Given the description of an element on the screen output the (x, y) to click on. 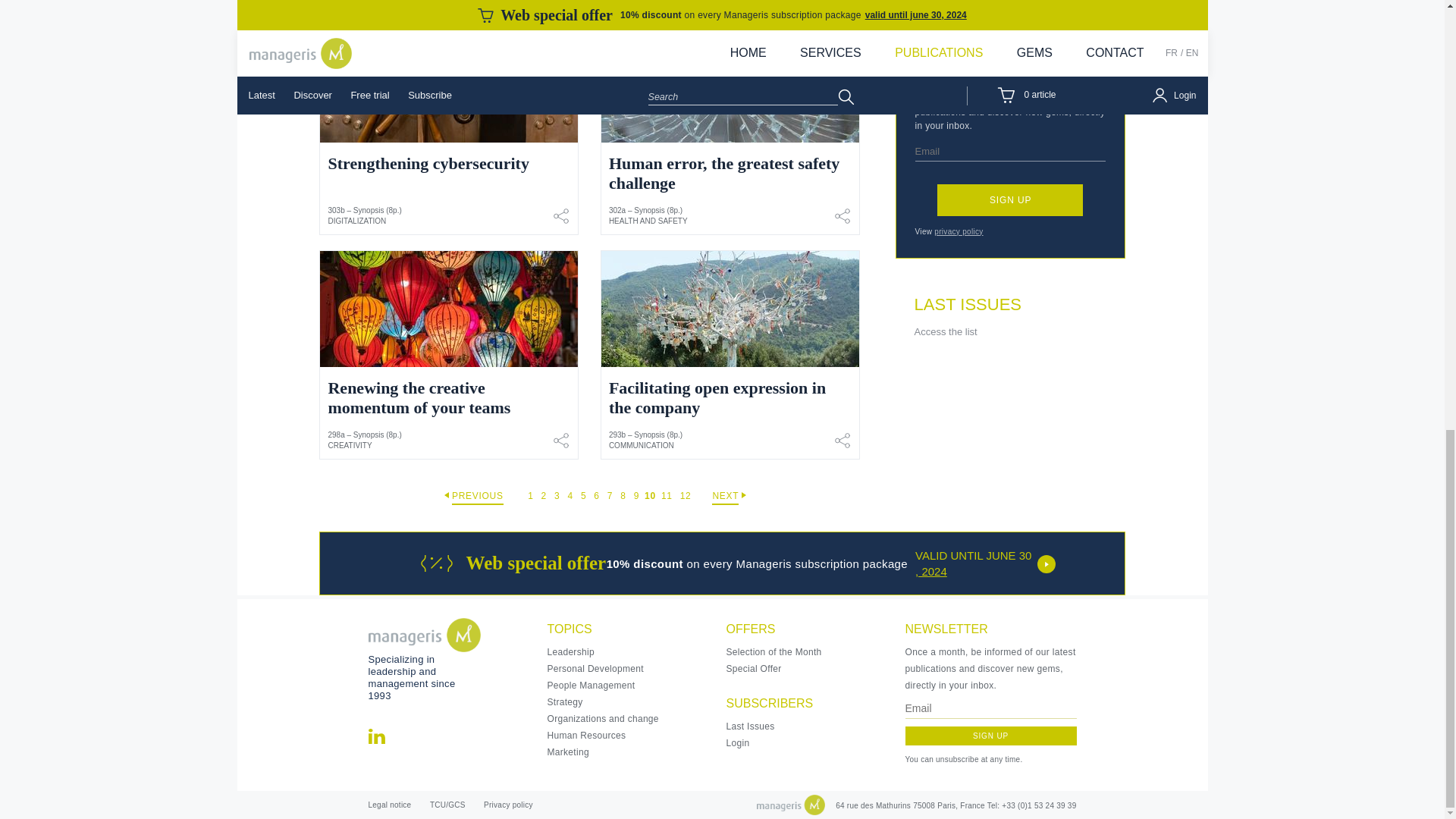
Share (561, 1)
Share (842, 440)
Share (561, 215)
Sign up (1010, 200)
Sign up (991, 735)
Share (561, 440)
Share (842, 215)
Share (842, 1)
Manageris LinkedIn (376, 735)
